Given the description of an element on the screen output the (x, y) to click on. 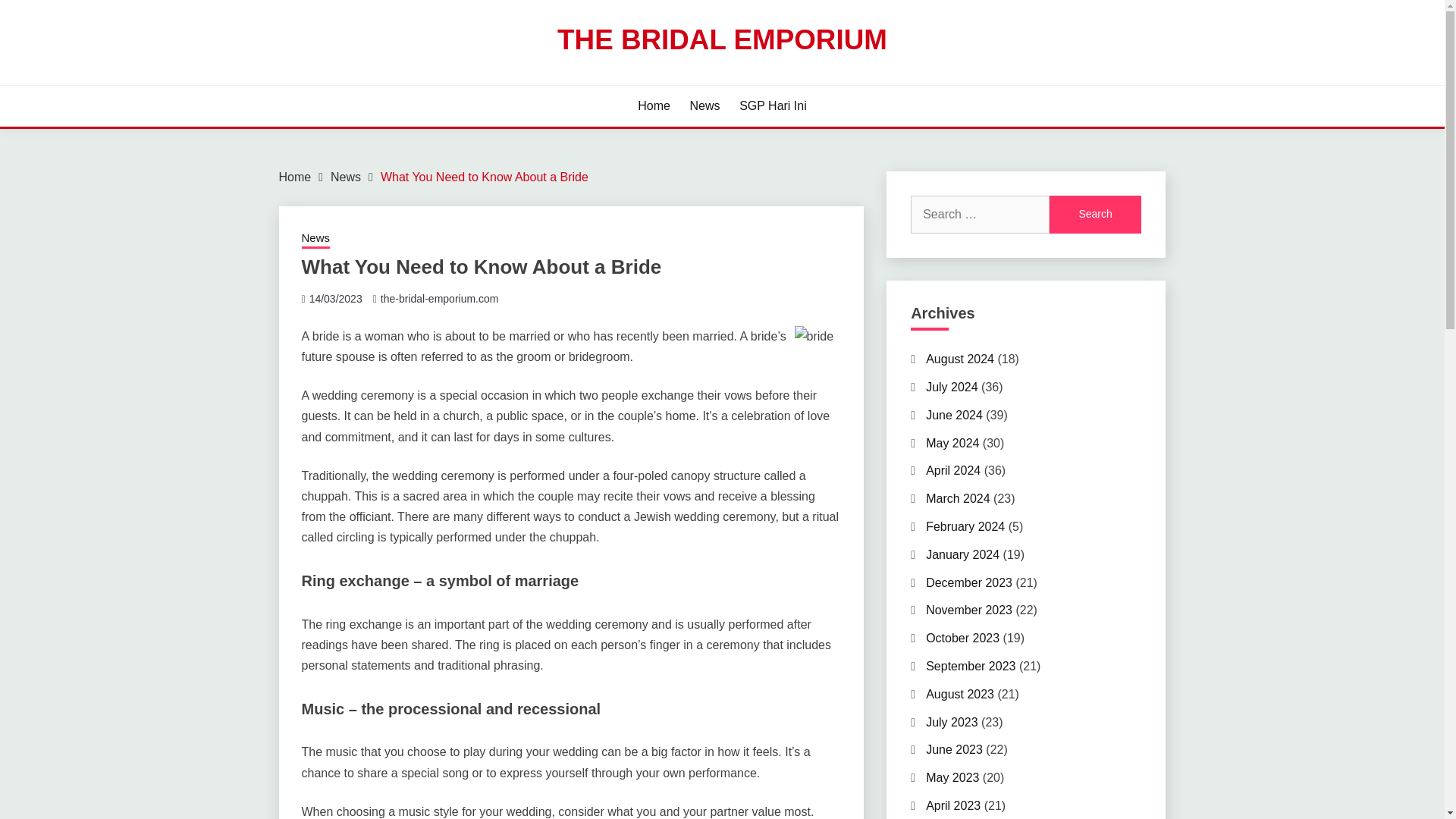
Home (295, 176)
December 2023 (968, 582)
October 2023 (962, 637)
August 2024 (960, 358)
February 2024 (965, 526)
Home (653, 106)
June 2023 (954, 748)
August 2023 (960, 694)
SGP Hari Ini (772, 106)
May 2024 (952, 442)
